Given the description of an element on the screen output the (x, y) to click on. 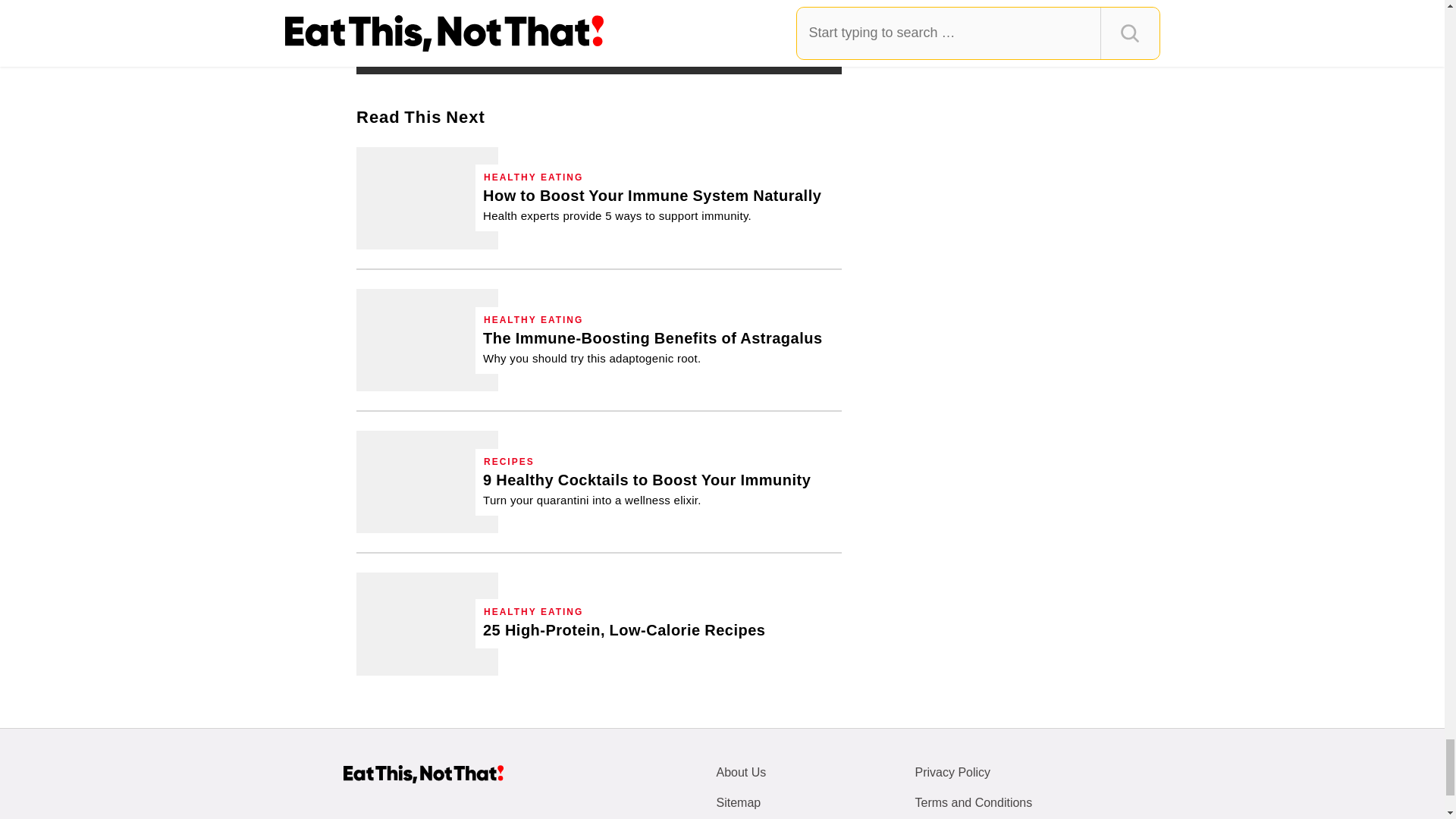
25 High-Protein Recipes That Are Also Low in Calories (426, 623)
25 High-Protein Recipes That Are Also Low in Calories (624, 629)
